Given the description of an element on the screen output the (x, y) to click on. 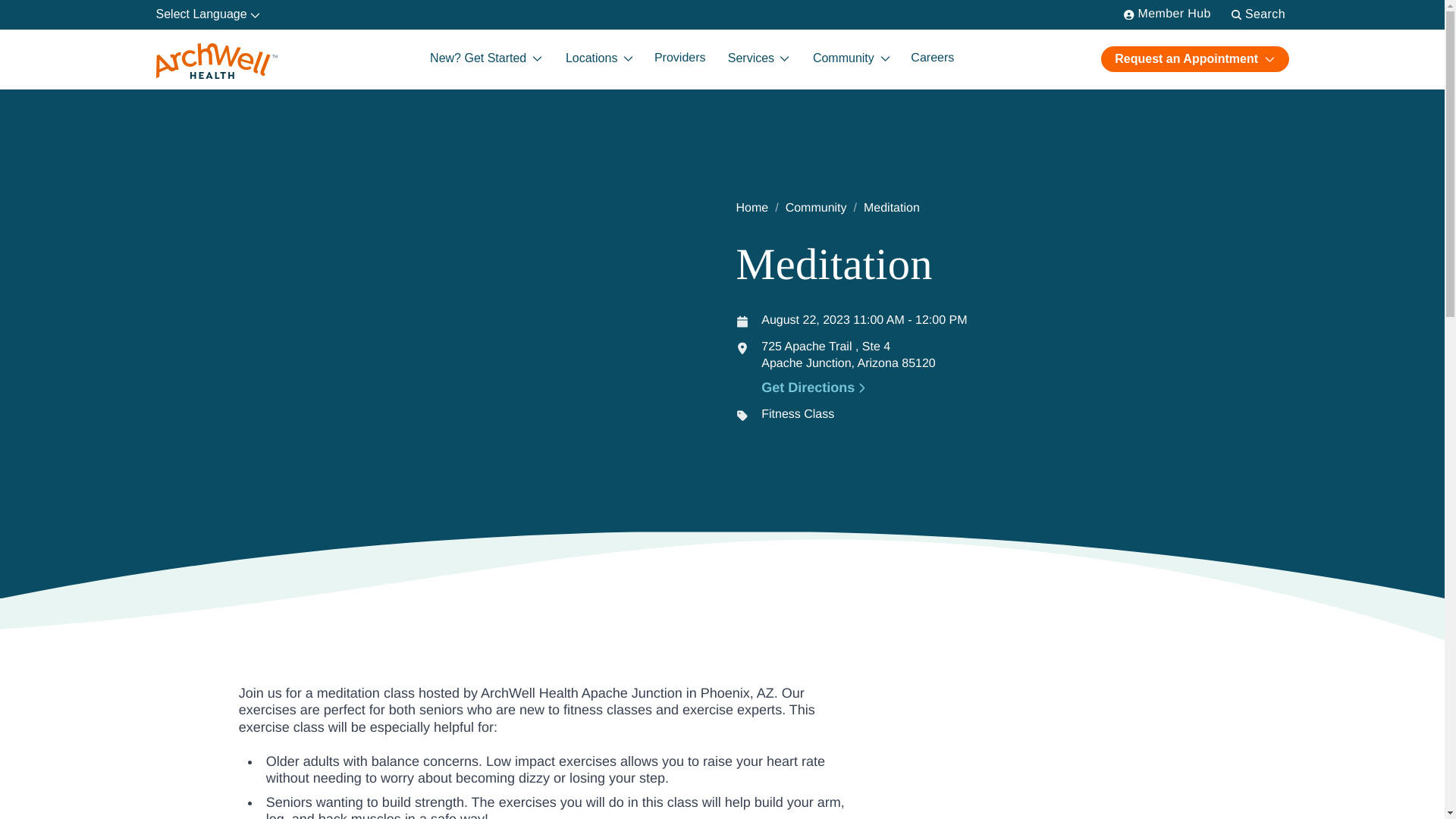
Services (758, 59)
Select Language (207, 14)
Providers (679, 59)
Member Hub (1167, 14)
New? Get Started (484, 59)
ArchWell Health Home page (216, 60)
Search (1257, 14)
Community (849, 59)
Locations (597, 59)
